Given the description of an element on the screen output the (x, y) to click on. 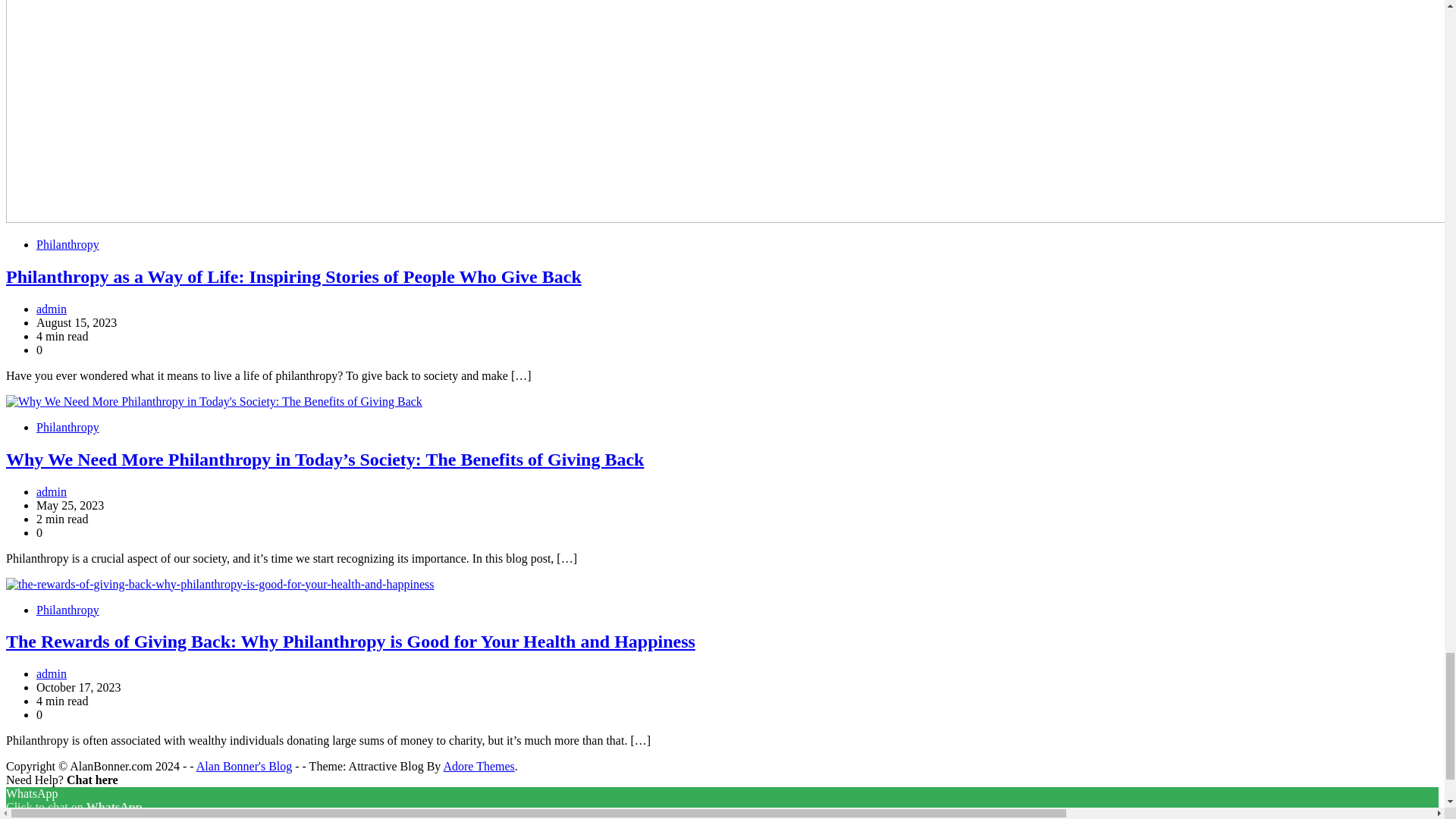
admin (51, 308)
admin (51, 673)
admin (51, 491)
Philanthropy (67, 244)
Philanthropy (67, 427)
Philanthropy (67, 609)
Adore Themes (477, 766)
Alan Bonner's Blog (244, 766)
